Given the description of an element on the screen output the (x, y) to click on. 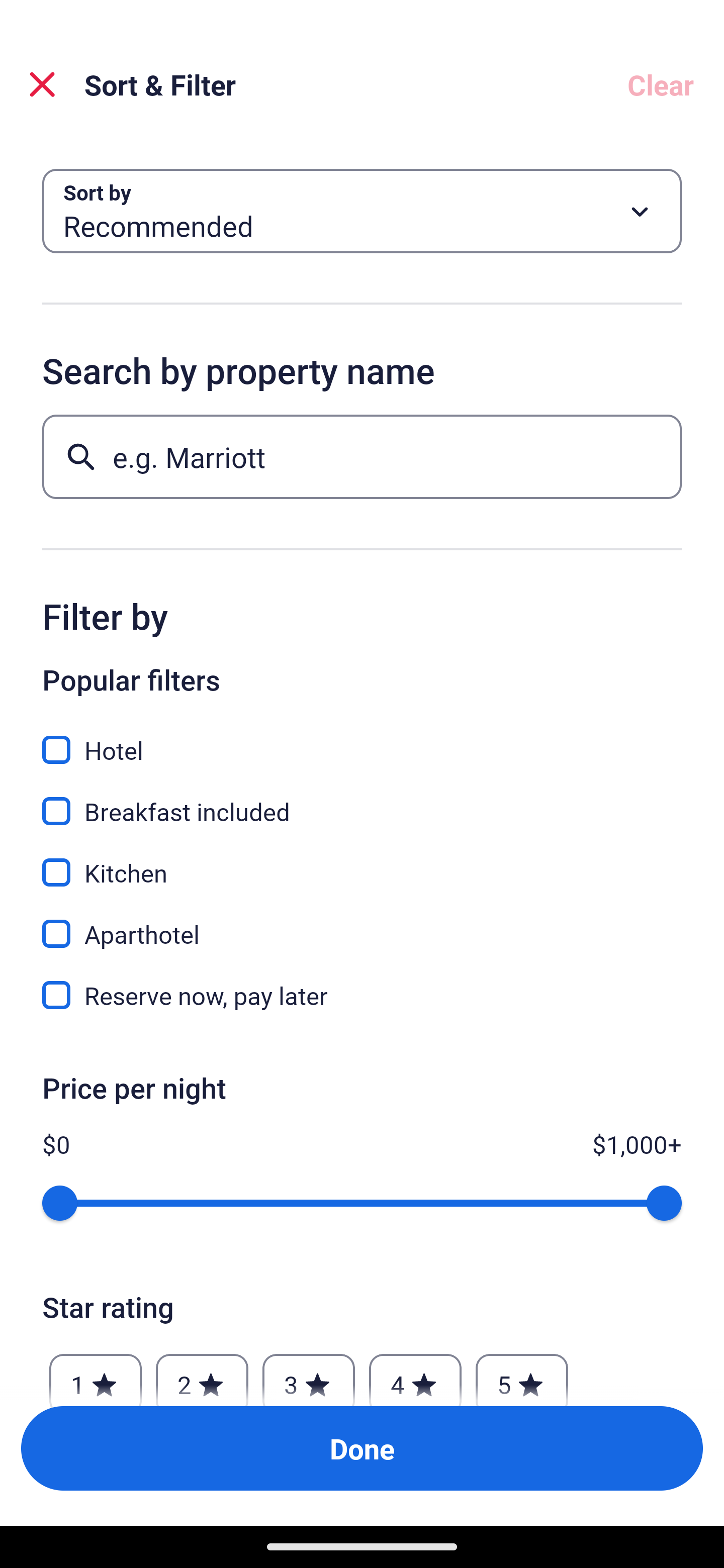
Close Sort and Filter (42, 84)
Clear (660, 84)
Sort by Button Recommended (361, 211)
e.g. Marriott Button (361, 455)
Hotel, Hotel (361, 738)
Breakfast included, Breakfast included (361, 800)
Kitchen, Kitchen (361, 861)
Aparthotel, Aparthotel (361, 922)
Reserve now, pay later, Reserve now, pay later (361, 995)
1 (95, 1374)
2 (201, 1374)
3 (308, 1374)
4 (415, 1374)
5 (521, 1374)
Apply and close Sort and Filter Done (361, 1448)
